Given the description of an element on the screen output the (x, y) to click on. 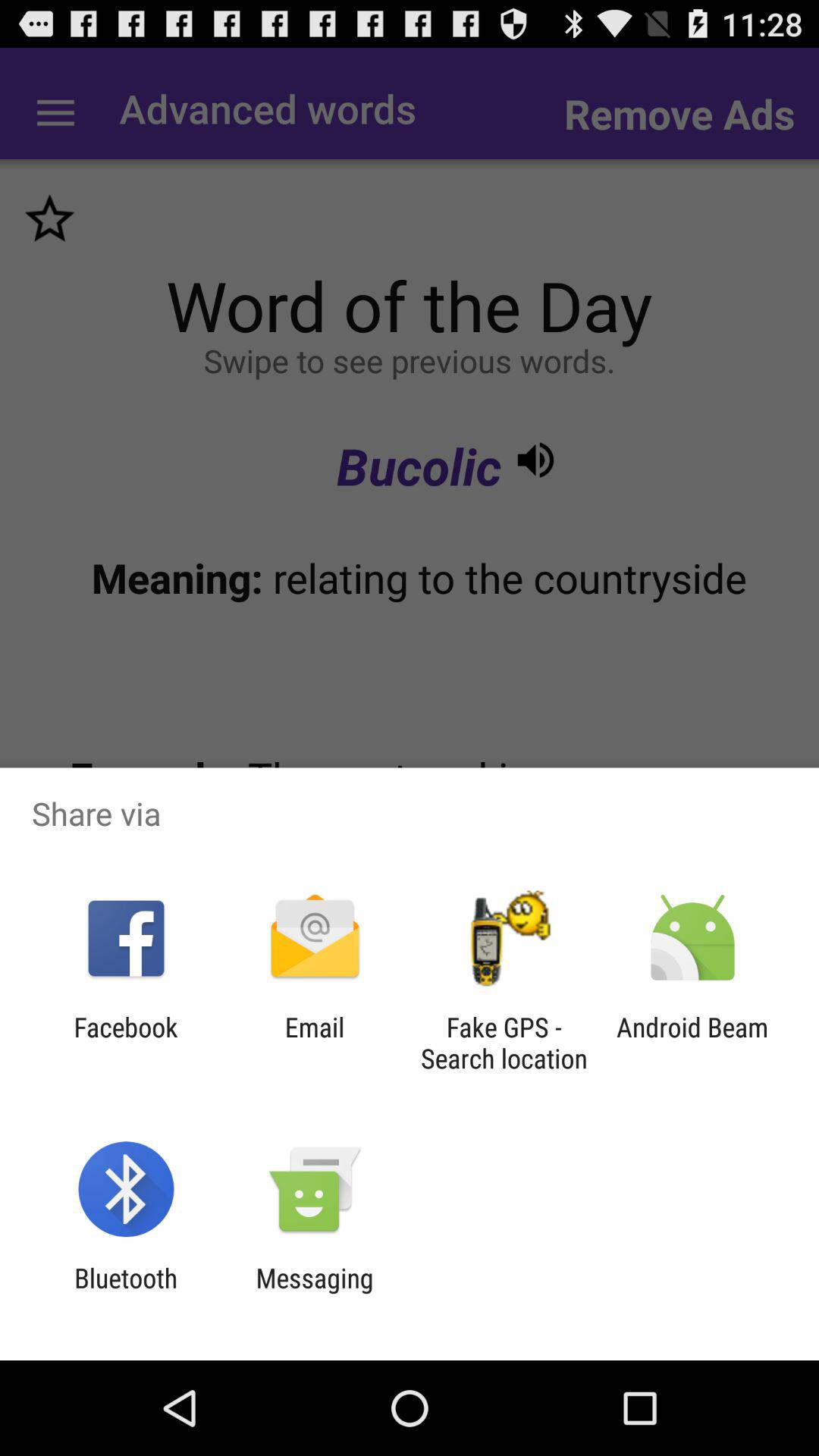
click item next to messaging icon (125, 1293)
